Given the description of an element on the screen output the (x, y) to click on. 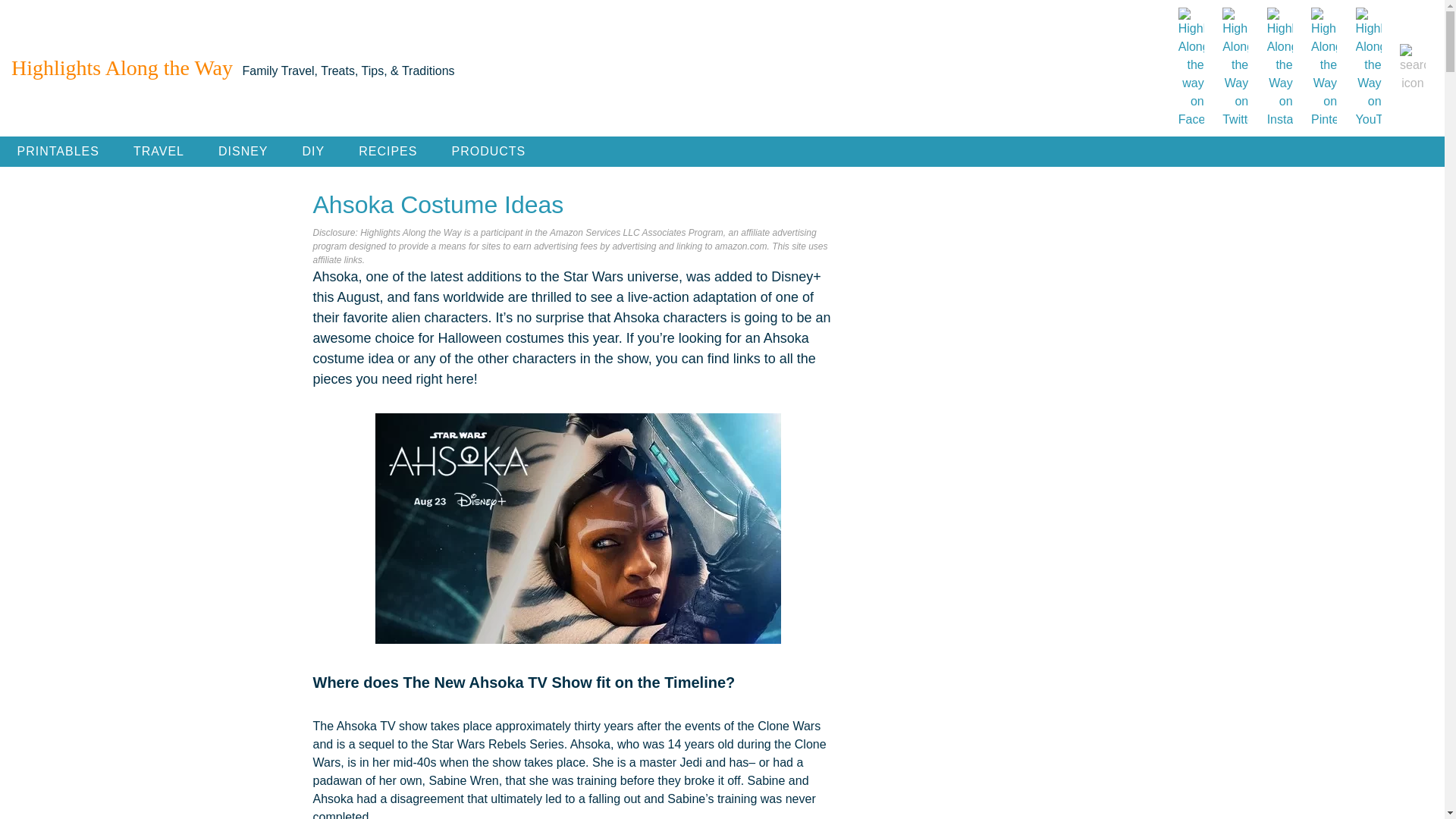
PRODUCTS (488, 151)
Travel (158, 151)
DIY (313, 151)
TRAVEL (158, 151)
DIY (313, 151)
RECIPES (387, 151)
PRINTABLES (58, 151)
Highlights Along the Way (121, 68)
DISNEY (242, 151)
